Given the description of an element on the screen output the (x, y) to click on. 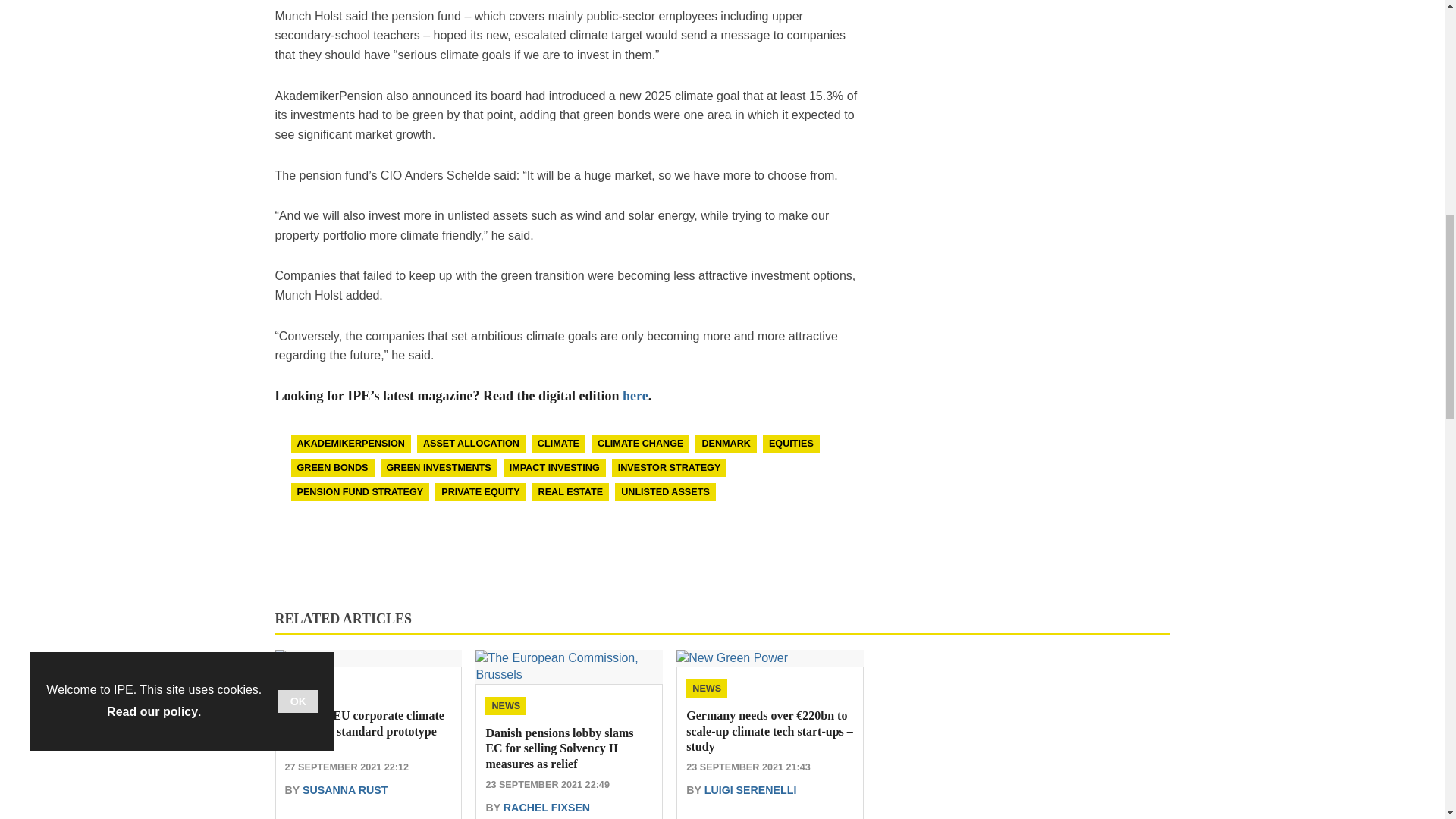
Email this article (288, 559)
